Given the description of an element on the screen output the (x, y) to click on. 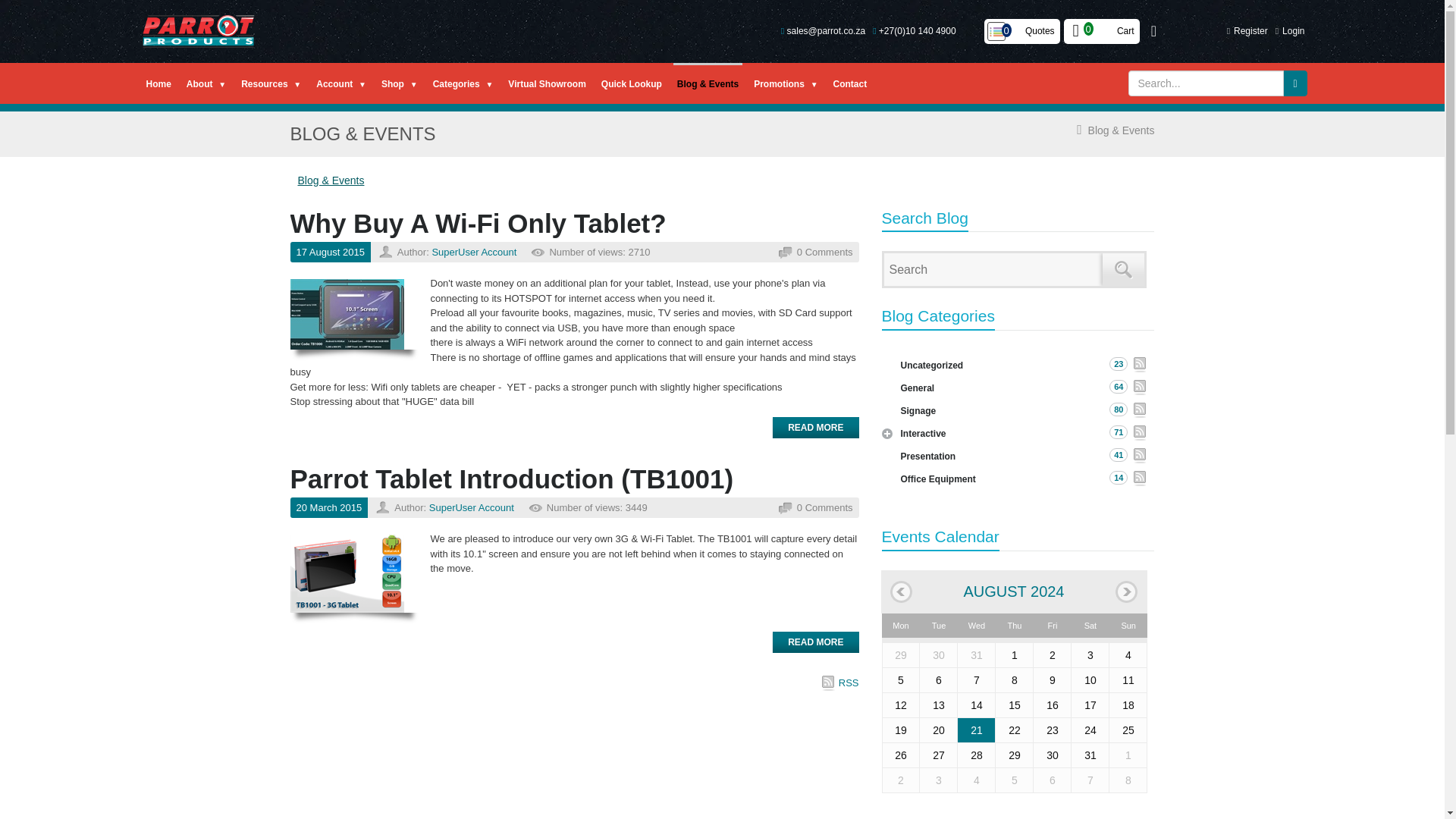
64 (1117, 386)
About (206, 83)
Login (1293, 30)
Enter a product's description or SKU (1206, 83)
Uncategorized (1020, 365)
Login (1293, 30)
Cart (1102, 31)
Register (1250, 30)
Register (1250, 30)
General (1020, 387)
